Given the description of an element on the screen output the (x, y) to click on. 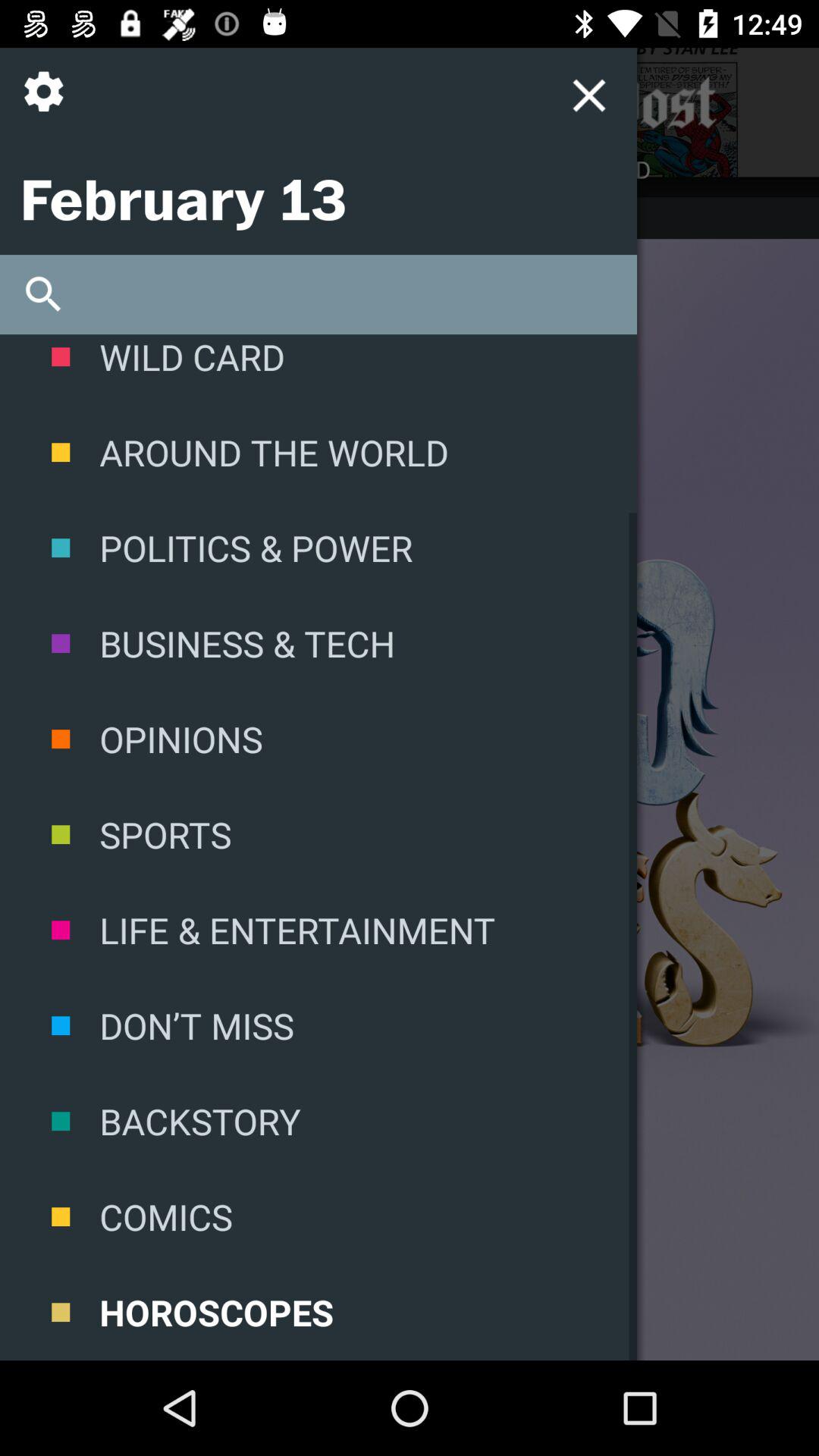
select the icon below the opinions app (318, 834)
